Given the description of an element on the screen output the (x, y) to click on. 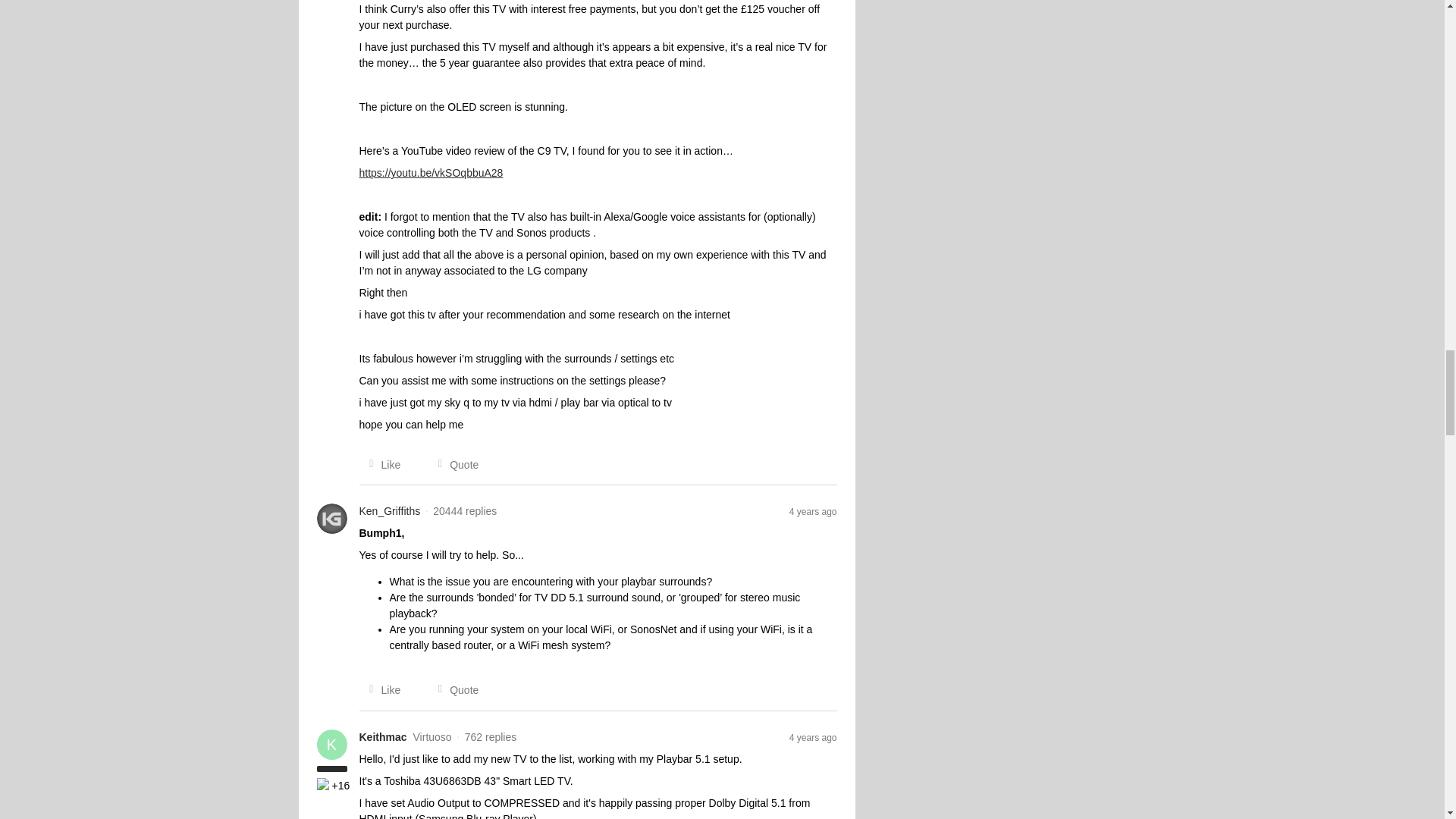
Mixing it up II (324, 785)
Keithmac (383, 737)
